Given the description of an element on the screen output the (x, y) to click on. 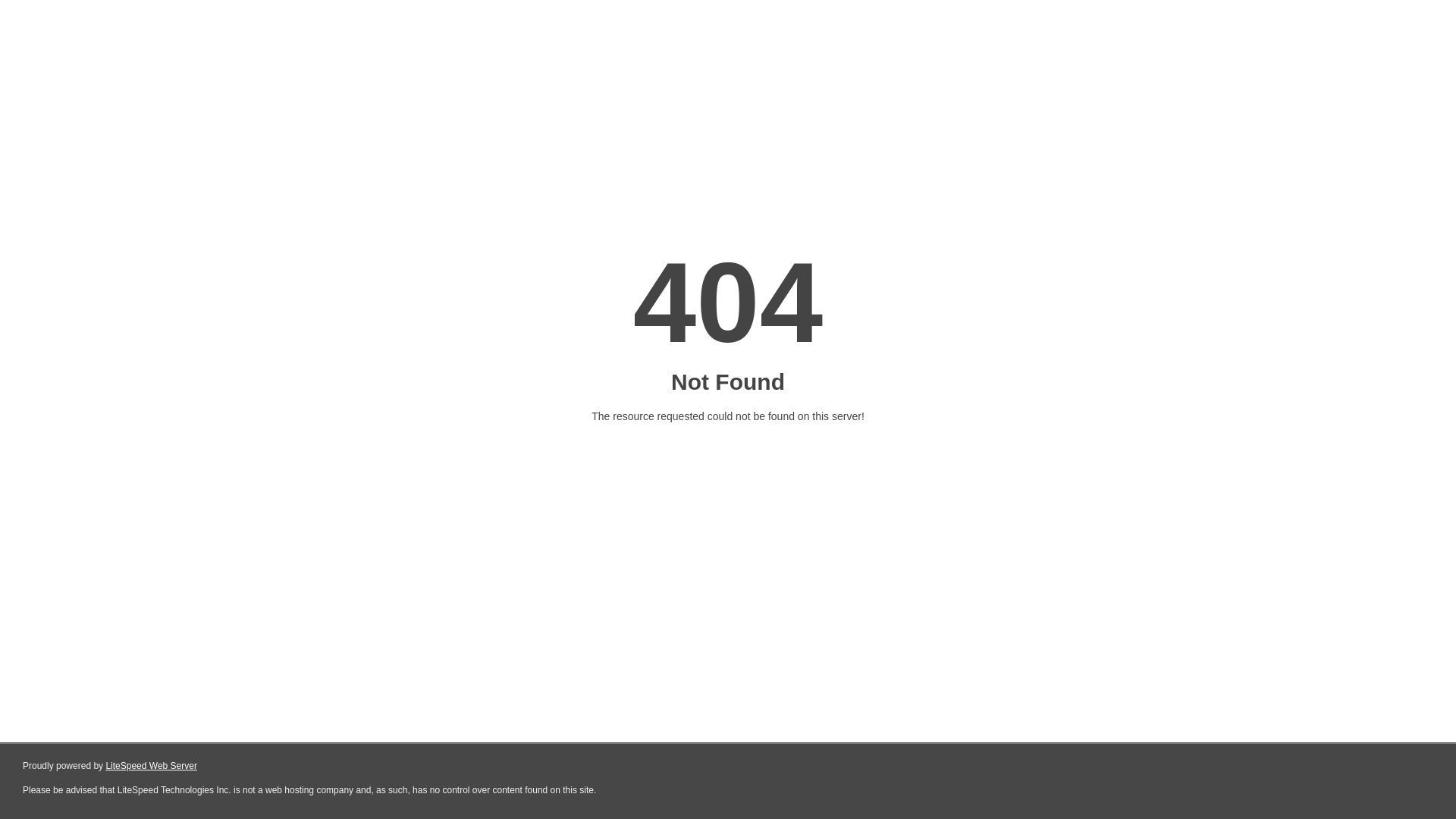
LiteSpeed Web Server Element type: text (151, 765)
